Given the description of an element on the screen output the (x, y) to click on. 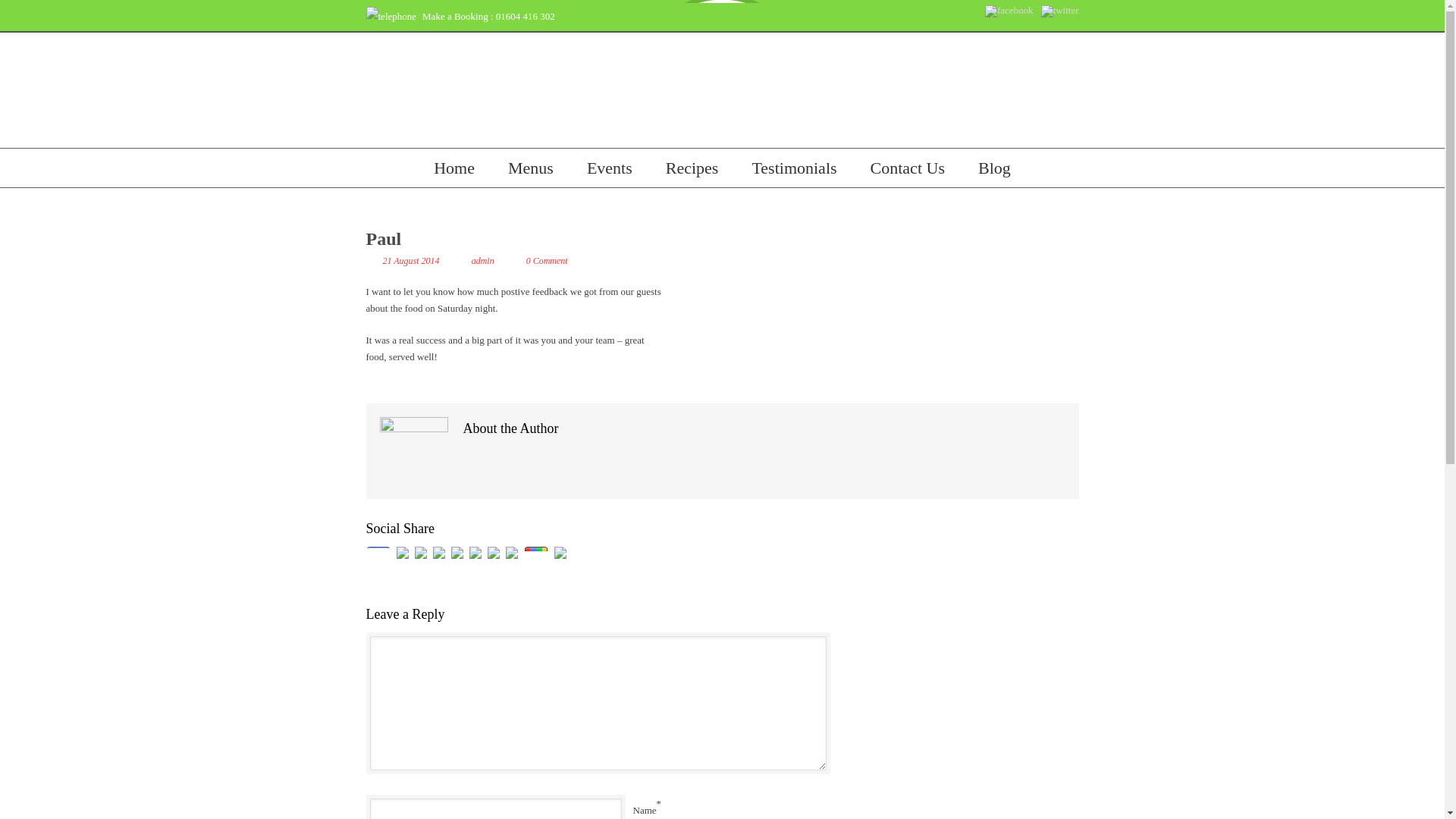
Posts by admin (483, 260)
Paul (383, 238)
Blog (993, 167)
Contact Us (907, 167)
0 Comment (546, 260)
Events (609, 167)
Menus (530, 167)
Recipes (691, 167)
21 August 2014 (410, 260)
admin (483, 260)
Testimonials (793, 167)
Home (454, 167)
